Given the description of an element on the screen output the (x, y) to click on. 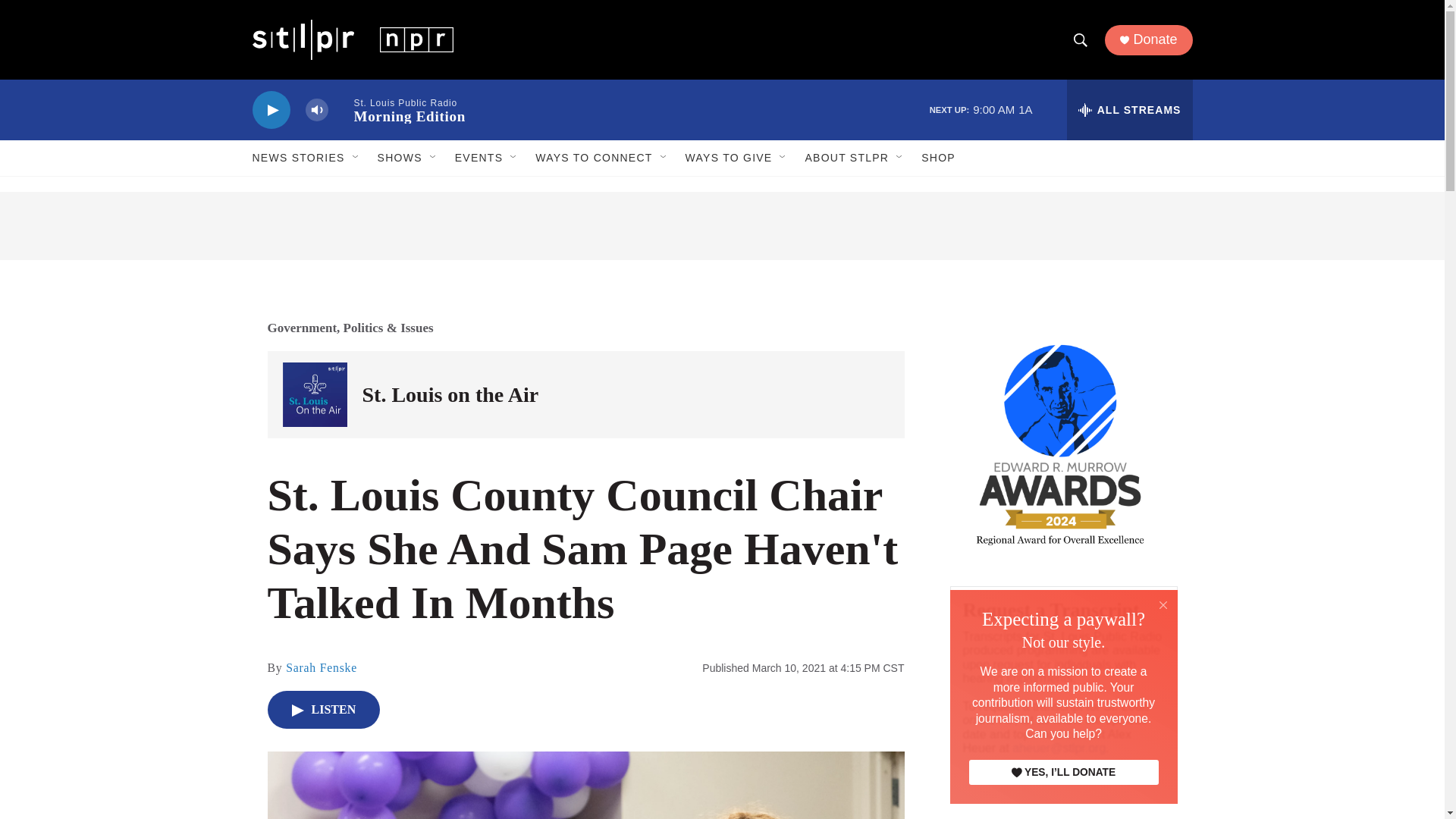
Close (1162, 604)
Close (1162, 605)
3rd party ad content (721, 225)
3rd party ad content (1093, 724)
